Given the description of an element on the screen output the (x, y) to click on. 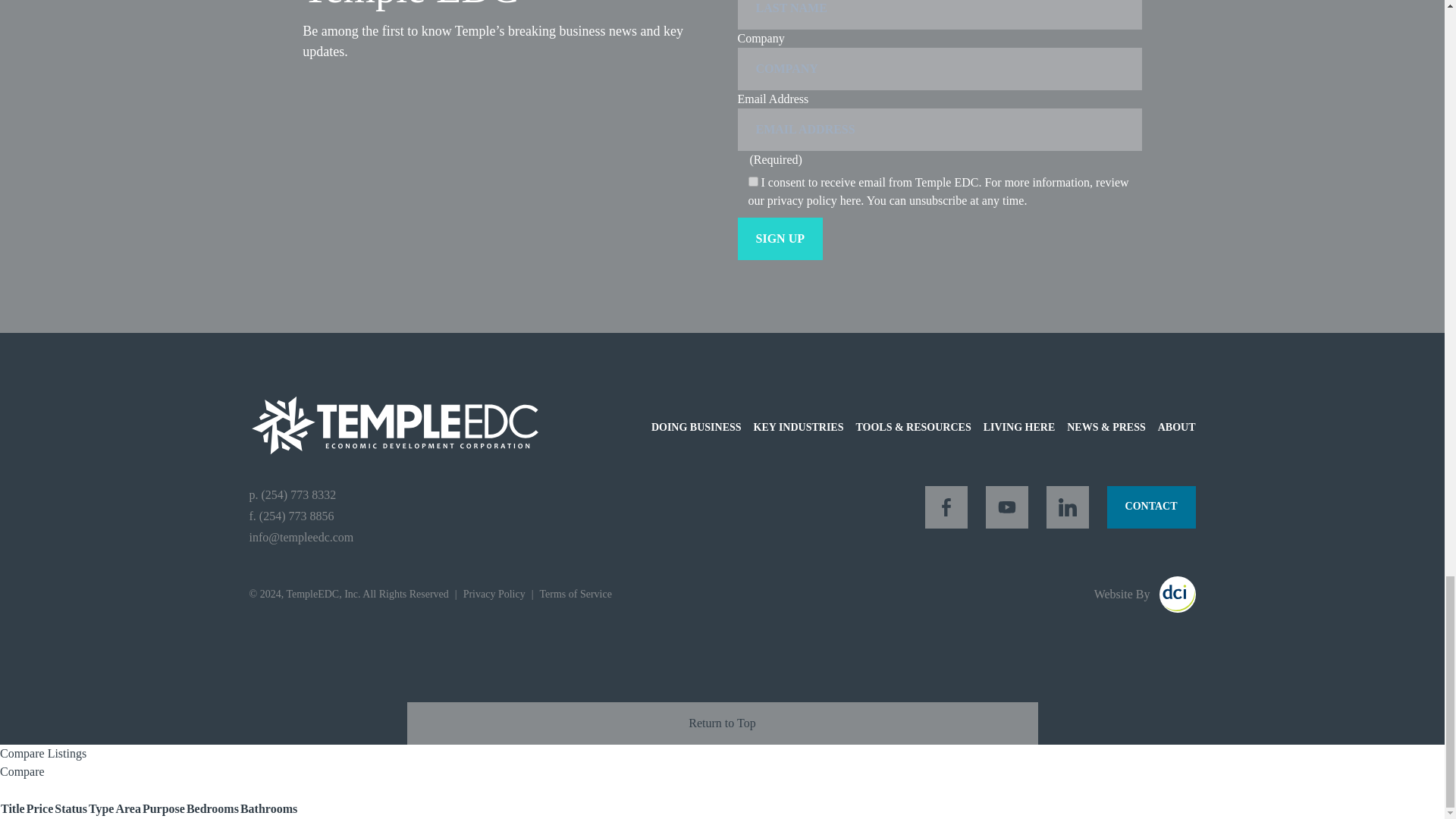
Return to Top (721, 722)
Sign Up (779, 238)
